Given the description of an element on the screen output the (x, y) to click on. 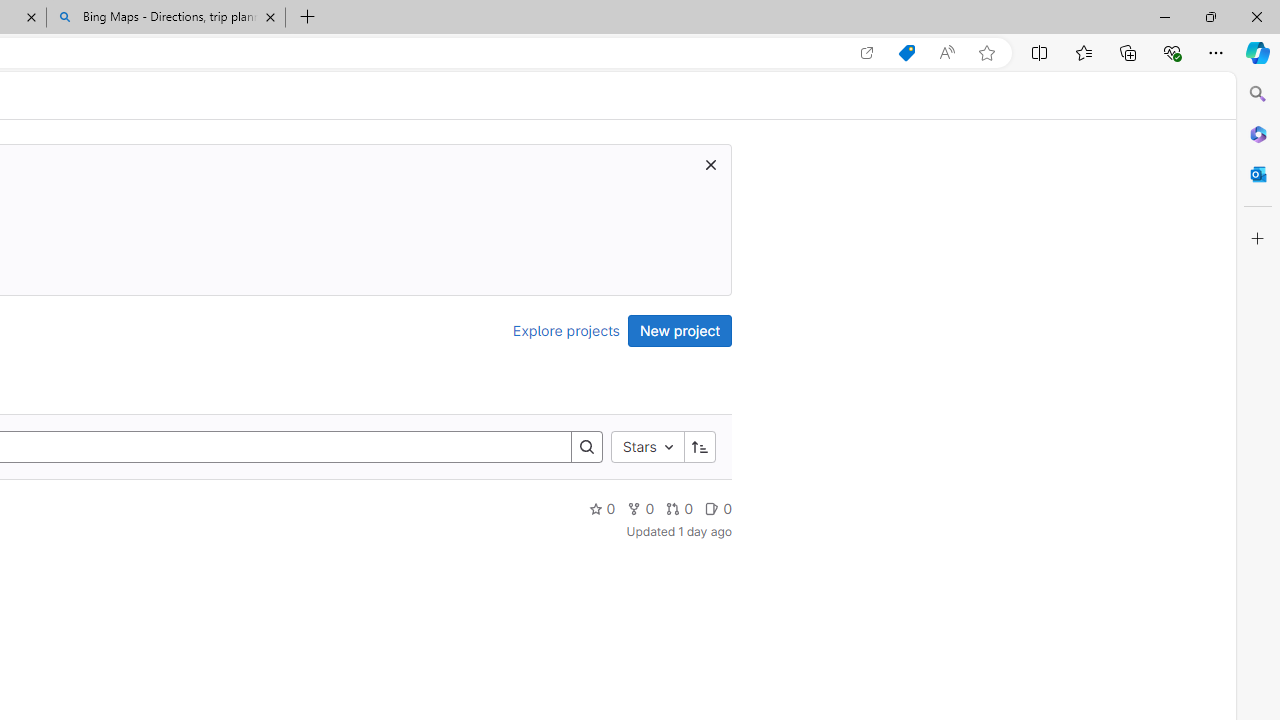
Open in app (867, 53)
0 (718, 508)
Class: s14 gl-mr-2 (712, 508)
New project (680, 330)
